Given the description of an element on the screen output the (x, y) to click on. 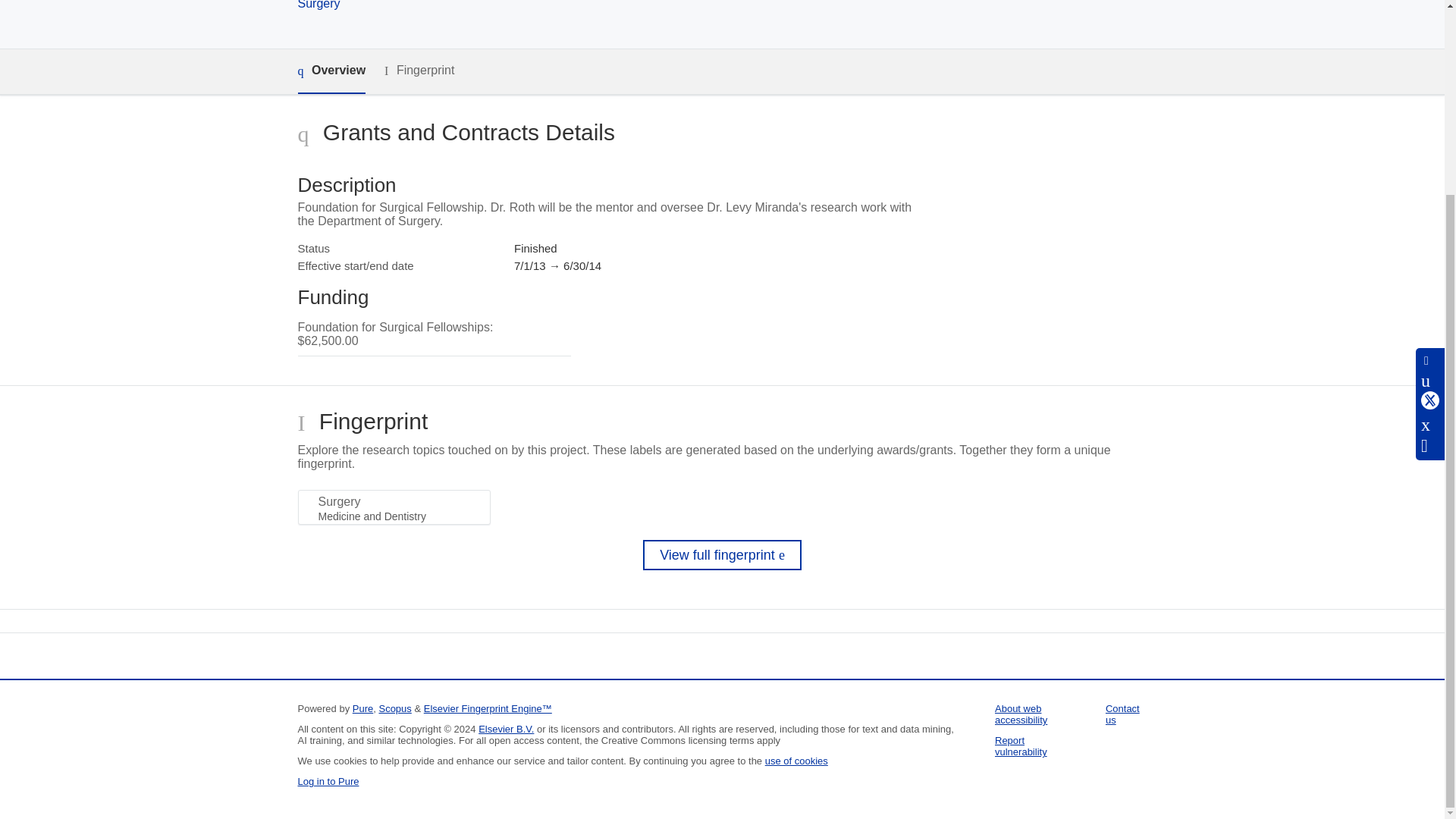
Pure (362, 708)
Report vulnerability (1020, 745)
Contact us (1122, 713)
use of cookies (796, 760)
Elsevier B.V. (506, 728)
Surgery (318, 4)
Log in to Pure (327, 781)
Overview (331, 71)
Scopus (394, 708)
About web accessibility (1020, 713)
